Given the description of an element on the screen output the (x, y) to click on. 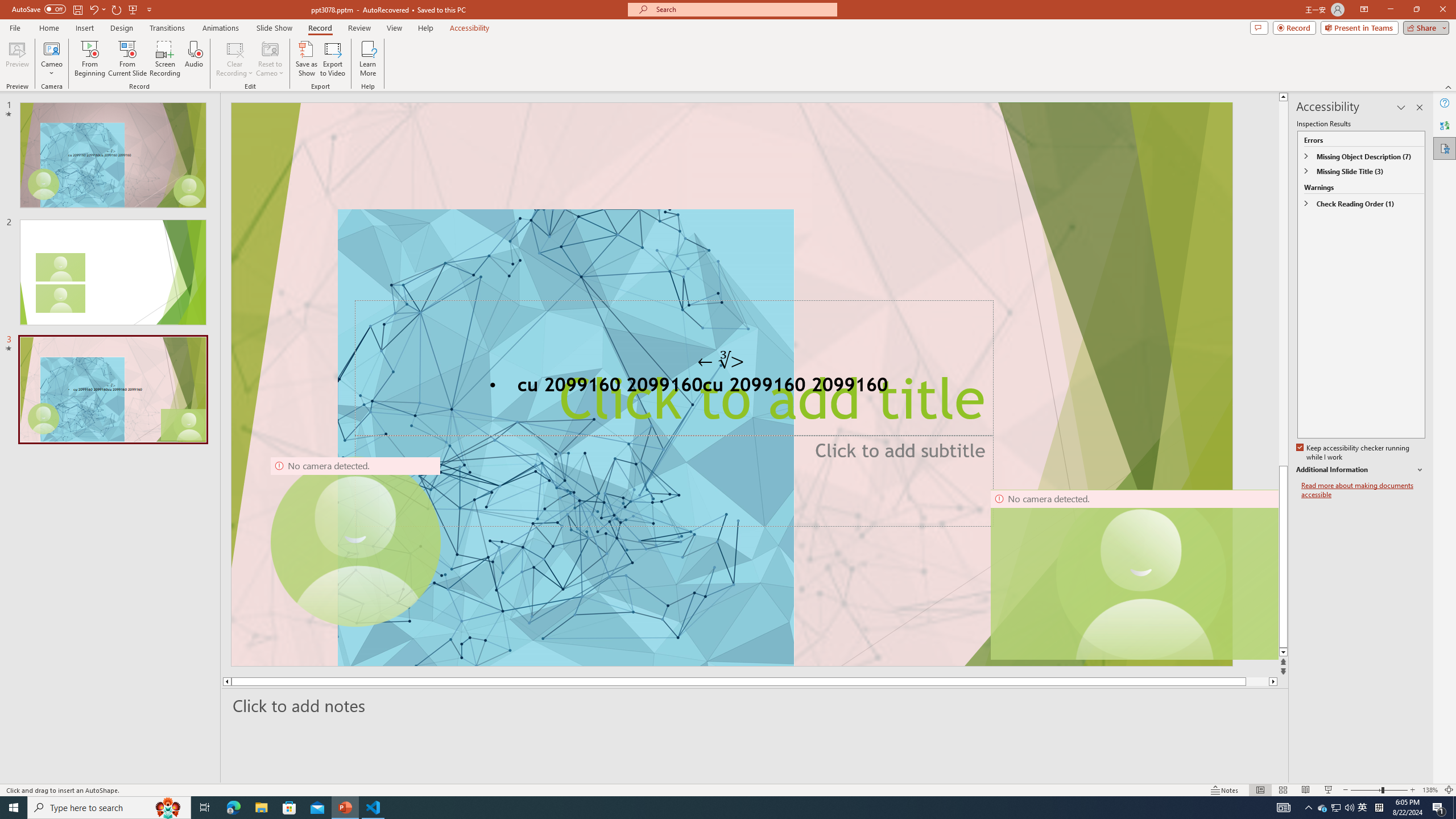
TextBox 61 (730, 386)
Keep accessibility checker running while I work (1353, 452)
Cameo (51, 48)
Preview (17, 58)
